Given the description of an element on the screen output the (x, y) to click on. 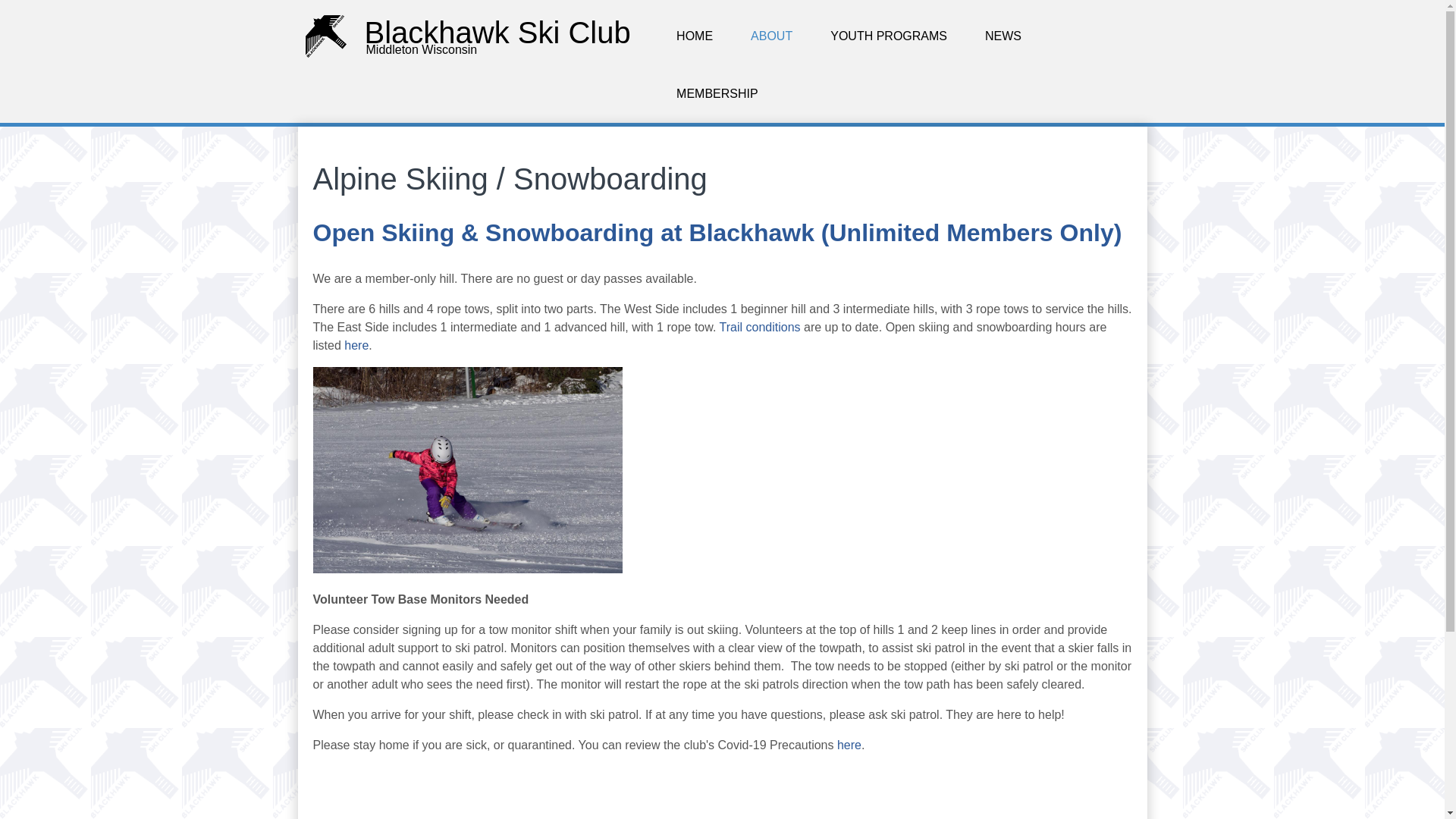
NEWS (1003, 36)
MEMBERSHIP (717, 93)
YOUTH PROGRAMS (888, 36)
HOME (695, 36)
Blackhawk Ski Club (497, 32)
Home (497, 32)
ABOUT (771, 36)
